Given the description of an element on the screen output the (x, y) to click on. 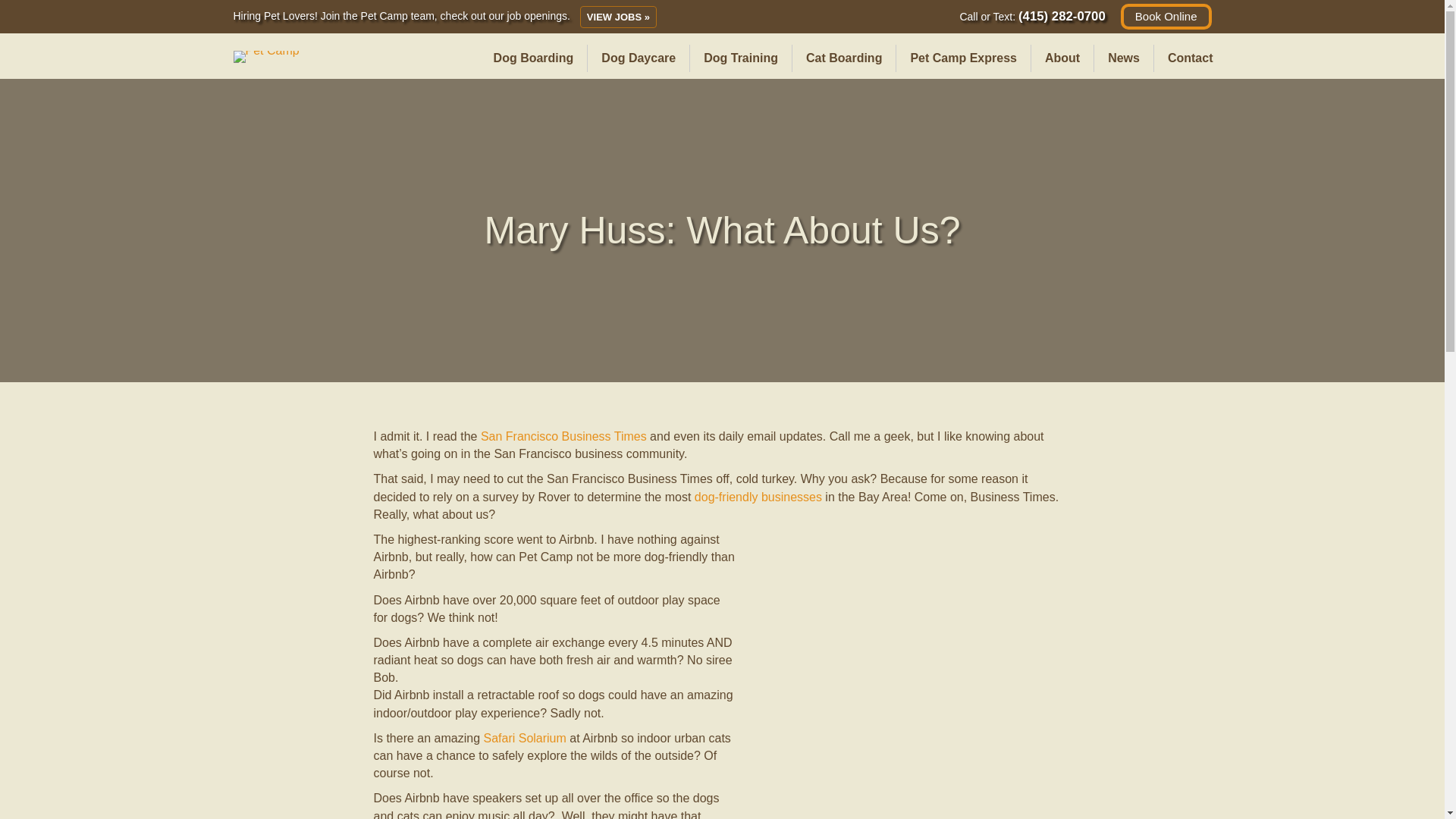
Contact (1190, 58)
Dog Training (741, 58)
Book Online (1166, 16)
Cat Boarding (843, 58)
Dog Daycare (638, 58)
Pet-Camp-Logo (265, 55)
Pet Camp Express (963, 58)
News (1123, 58)
About (1061, 58)
Dog Boarding (534, 58)
